Given the description of an element on the screen output the (x, y) to click on. 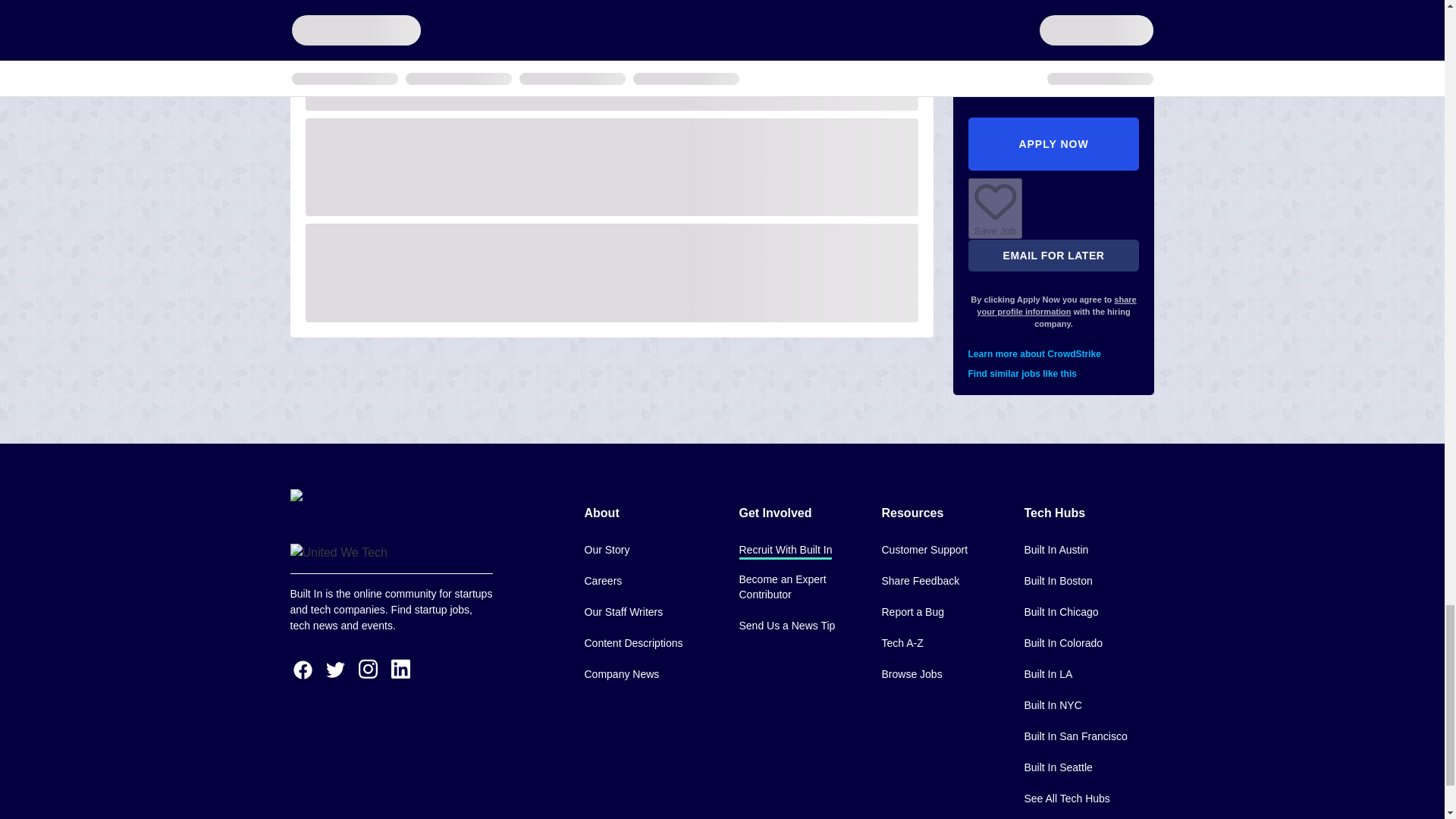
Share Feedback (919, 581)
Become an Expert Contributor (797, 587)
Company News (621, 674)
Customer Support (924, 550)
Tech A-Z (901, 643)
Careers (602, 581)
Our Story (605, 550)
Recruit With Built In (784, 550)
Report a Bug (911, 612)
Our Staff Writers (622, 612)
